Given the description of an element on the screen output the (x, y) to click on. 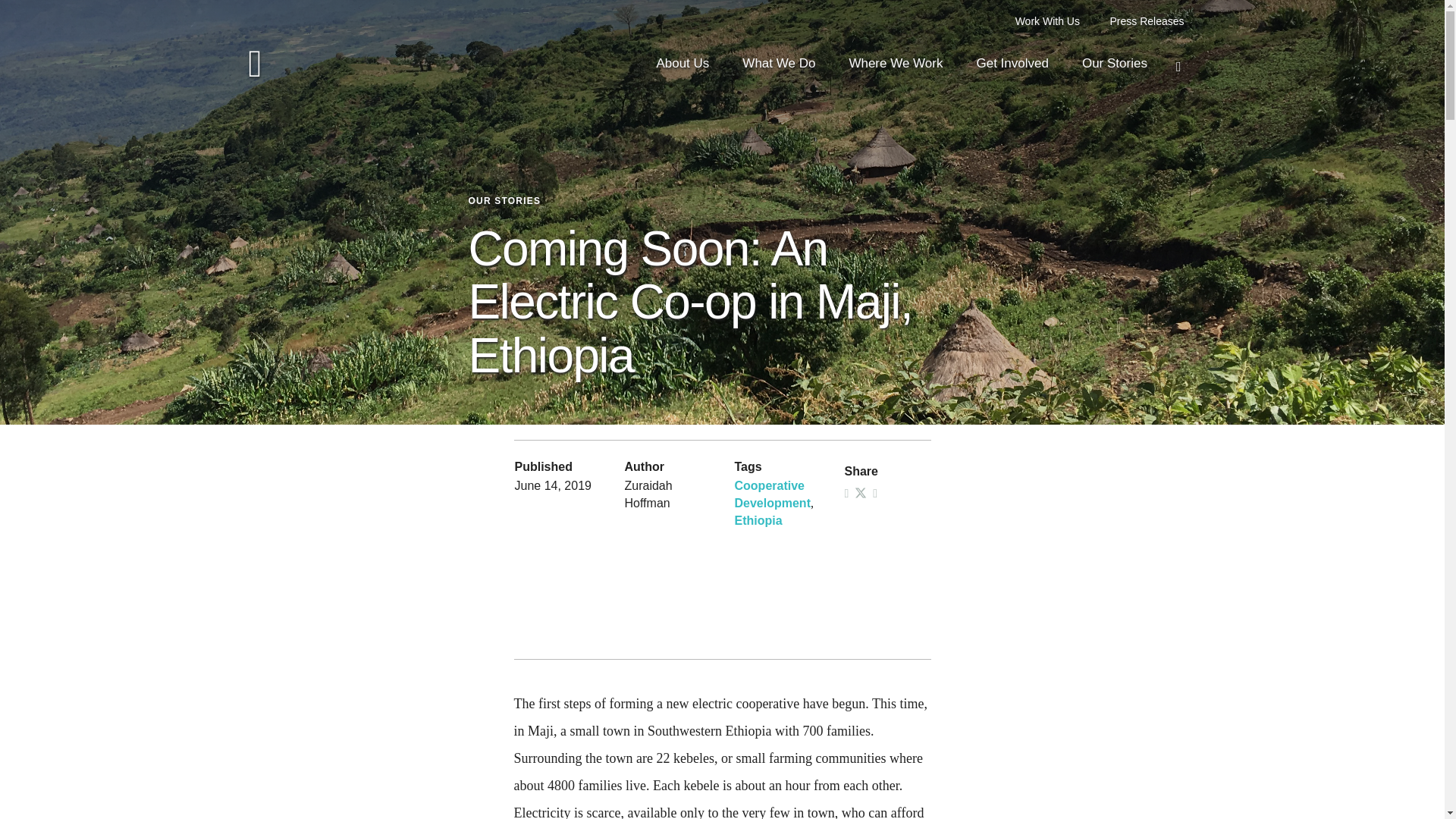
About Us (682, 65)
Get Involved (1011, 65)
What We Do (778, 65)
Where We Work (895, 65)
Our Stories (1114, 65)
Press Releases (1146, 21)
Work With Us (1048, 21)
